Given the description of an element on the screen output the (x, y) to click on. 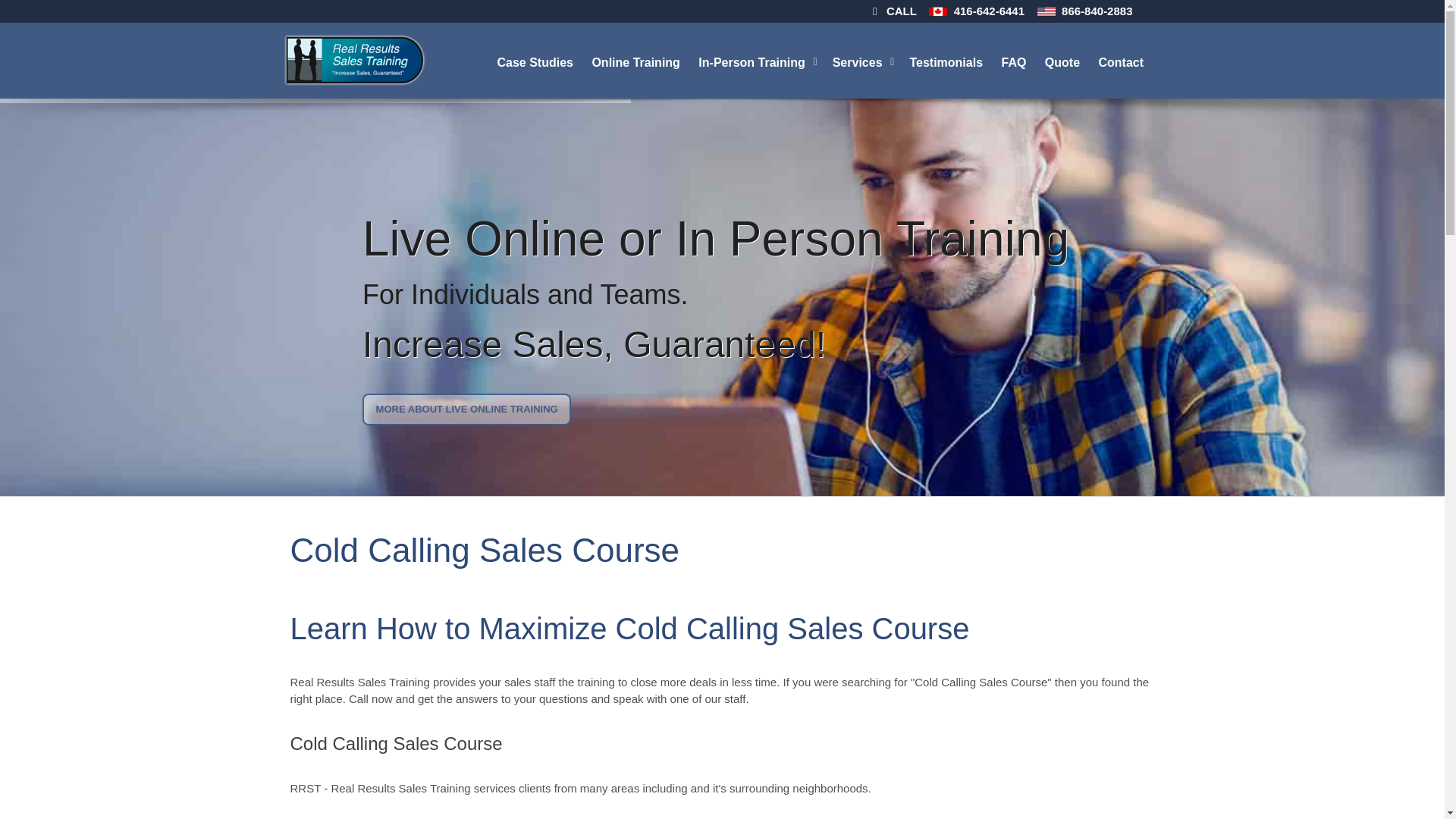
866-840-2883 (1096, 10)
Testimonials  (946, 60)
Call in the US for Sales Training (1045, 12)
In-Person Training   (757, 60)
Home - Real Results Sales Training (353, 59)
Case Studies  (536, 60)
Call in Canada for Sales Training (937, 12)
Services   (863, 60)
Online Training  (636, 60)
 MORE ABOUT LIVE ONLINE TRAINING  (466, 409)
416-642-6441 (989, 10)
